Given the description of an element on the screen output the (x, y) to click on. 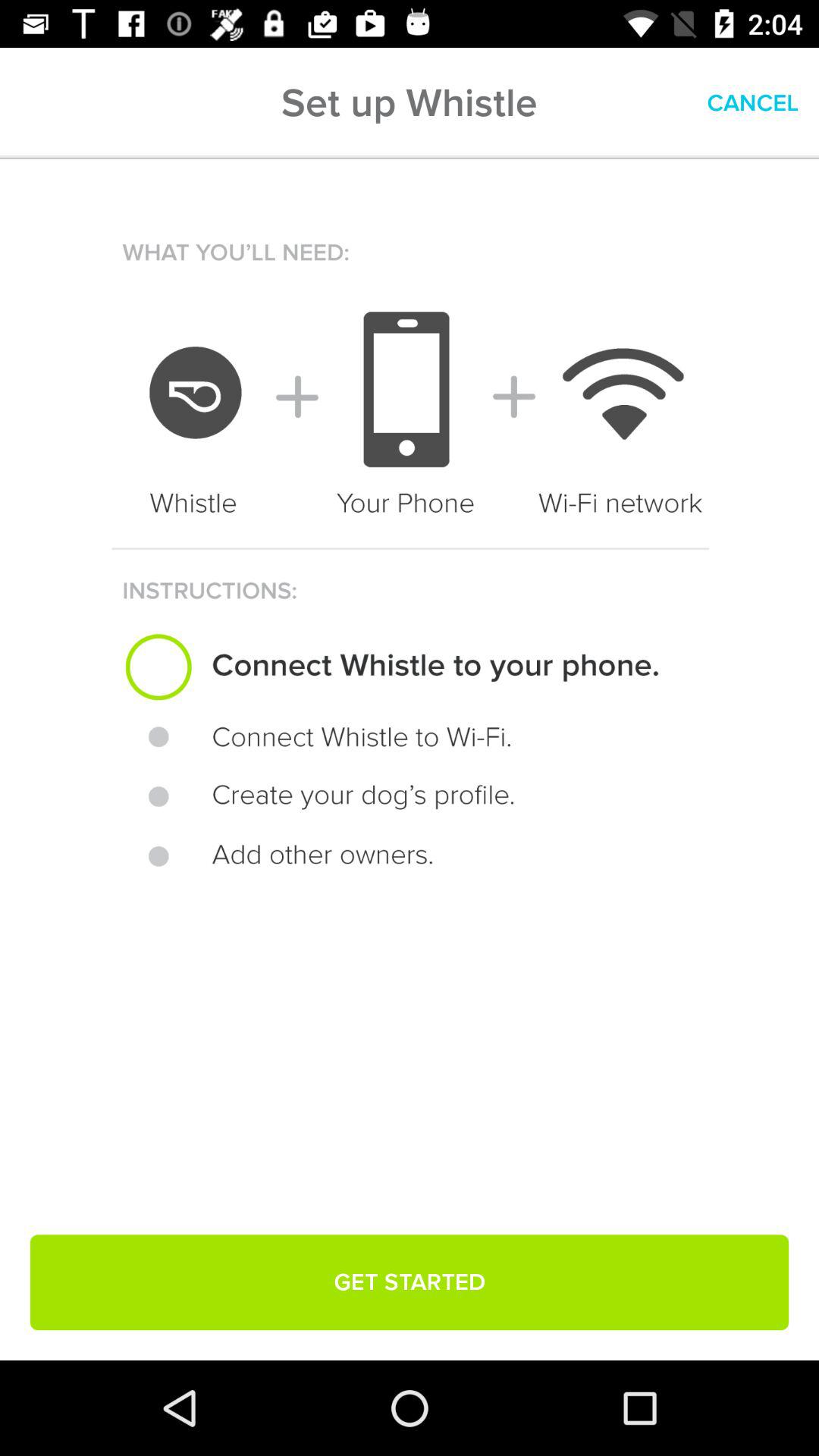
open the icon at the top right corner (753, 103)
